Given the description of an element on the screen output the (x, y) to click on. 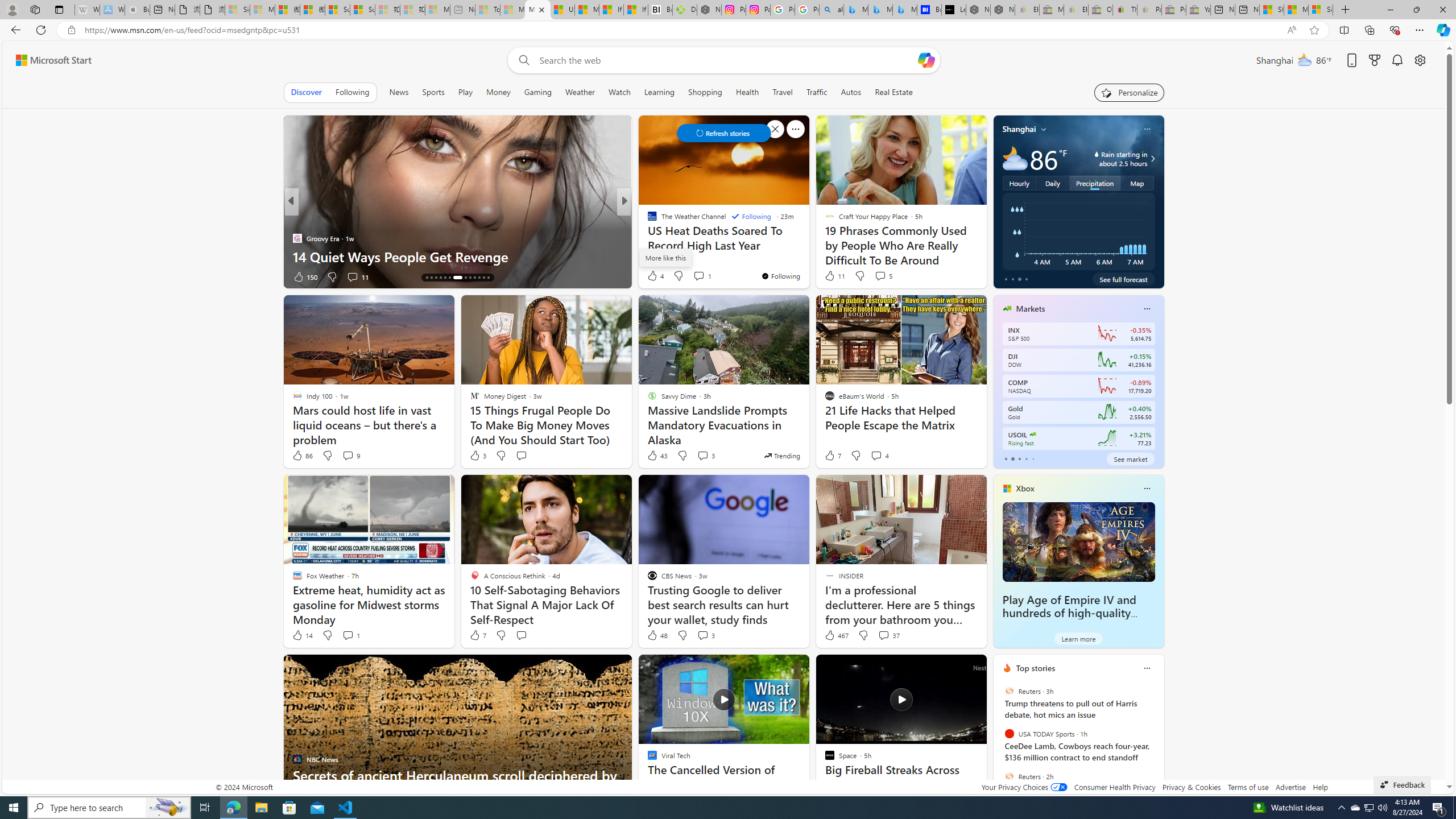
Warship sinks after crash with unknown object (807, 256)
Shanghai (1018, 128)
Discover (306, 92)
Terms of use (1247, 786)
Feedback (1402, 784)
Class: weather-arrow-glyph (1152, 158)
BBC (647, 219)
Precipitation (1094, 183)
tab-1 (1012, 458)
New Tab (1346, 9)
alabama high school quarterback dies - Search (830, 9)
View comments 37 Comment (883, 635)
Mostly cloudy (1014, 158)
